Given the description of an element on the screen output the (x, y) to click on. 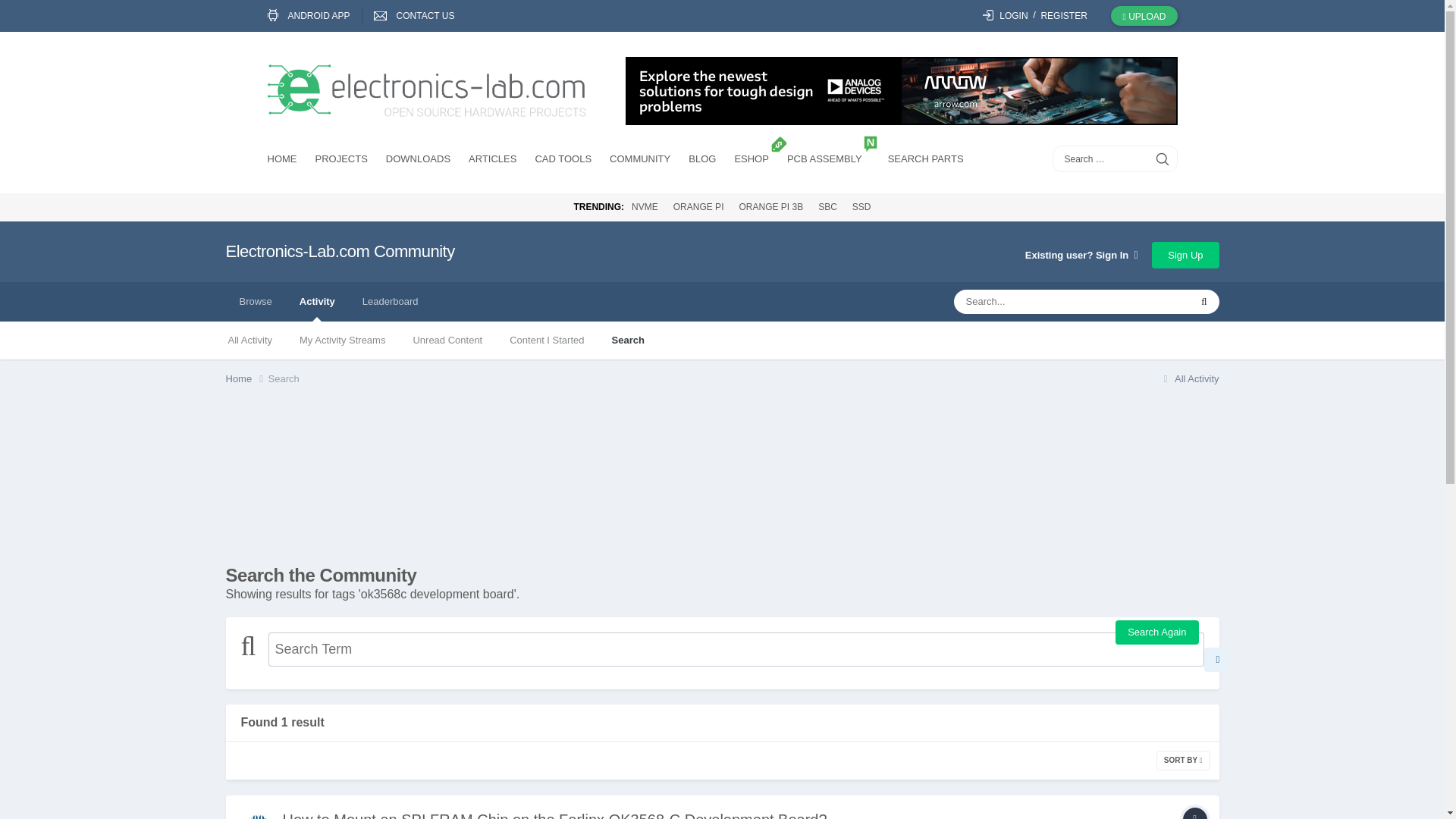
UPLOAD (1143, 15)
ANDROID APP (313, 16)
LOGIN (1004, 15)
CONTACT US (419, 16)
Home (246, 378)
Topic (1194, 813)
DOWNLOADS (417, 160)
Advertisement (721, 480)
Go to Forlinx's profile (258, 814)
PROJECTS (341, 160)
PCBONLINE PCB service (828, 160)
electroniclabs (425, 91)
REGISTER (1063, 15)
